Given the description of an element on the screen output the (x, y) to click on. 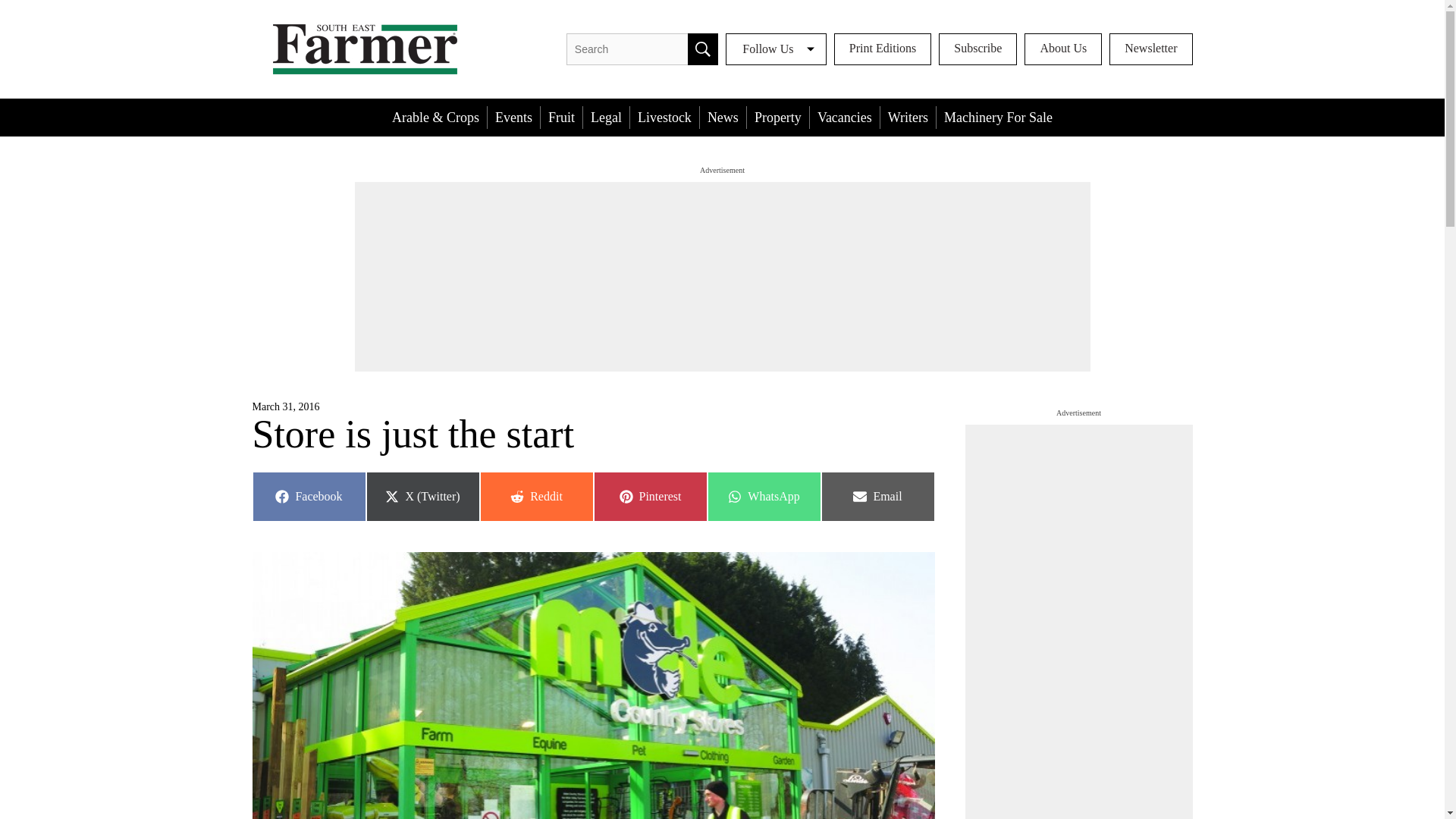
Newsletter (1150, 49)
Property (777, 117)
Machinery For Sale (997, 117)
Vacancies (649, 496)
Events (844, 117)
Fruit (513, 117)
News (877, 496)
Legal (561, 117)
